Given the description of an element on the screen output the (x, y) to click on. 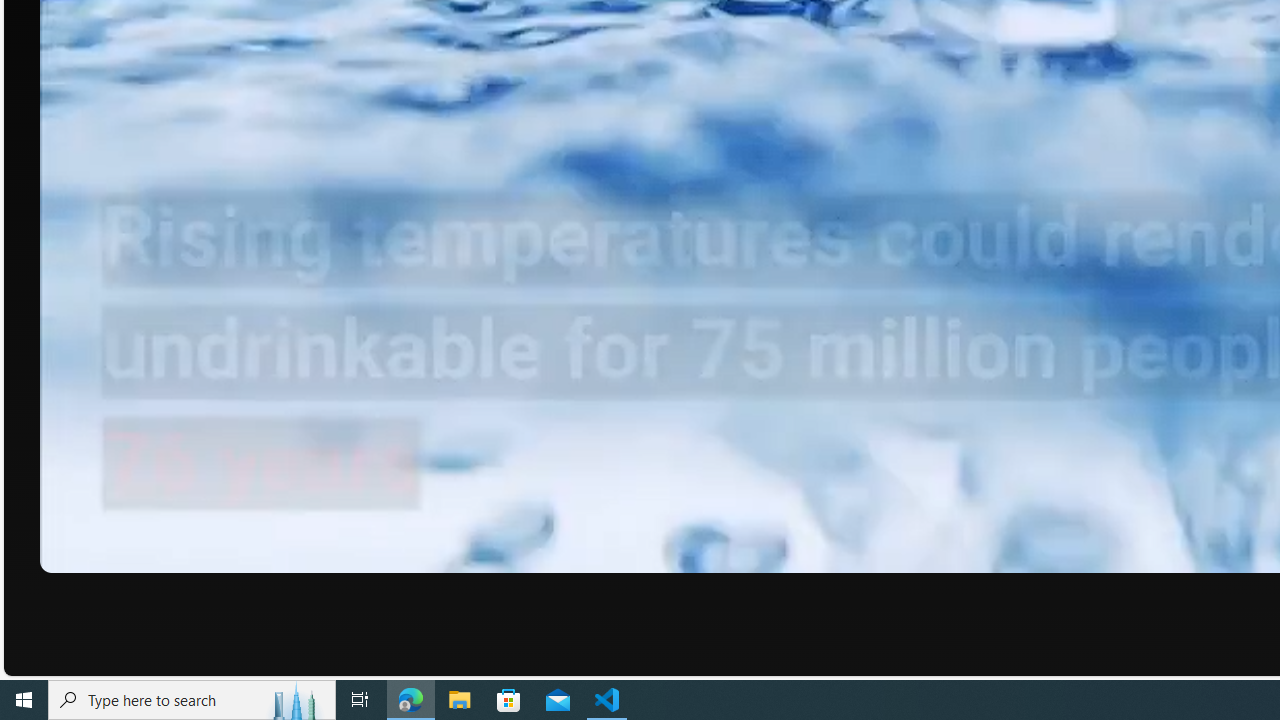
Pause (69, 550)
Seek Back (109, 550)
Seek Forward (150, 550)
